Given the description of an element on the screen output the (x, y) to click on. 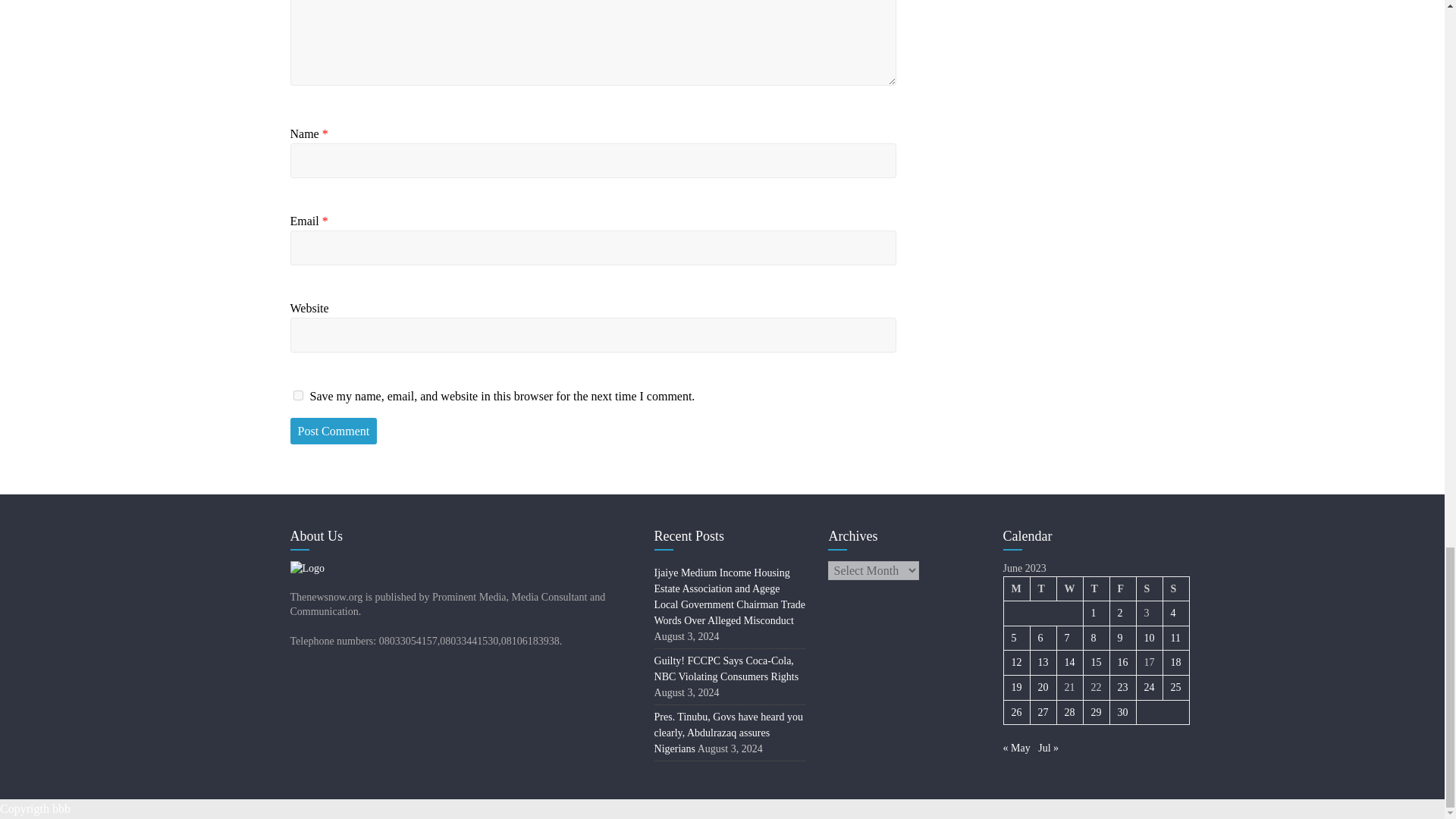
Post Comment (333, 431)
yes (297, 395)
